Given the description of an element on the screen output the (x, y) to click on. 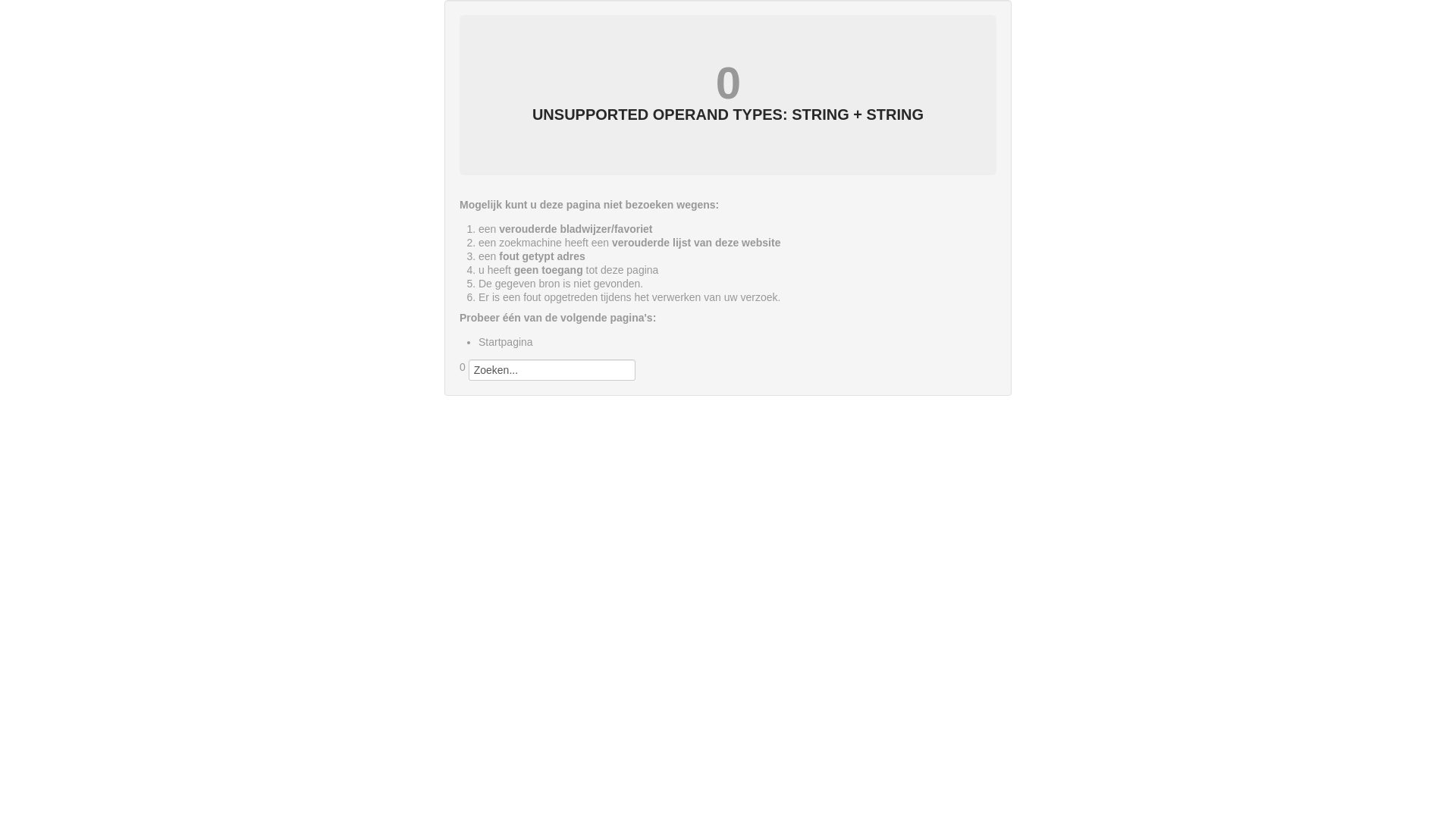
Startpagina Element type: text (505, 341)
